Given the description of an element on the screen output the (x, y) to click on. 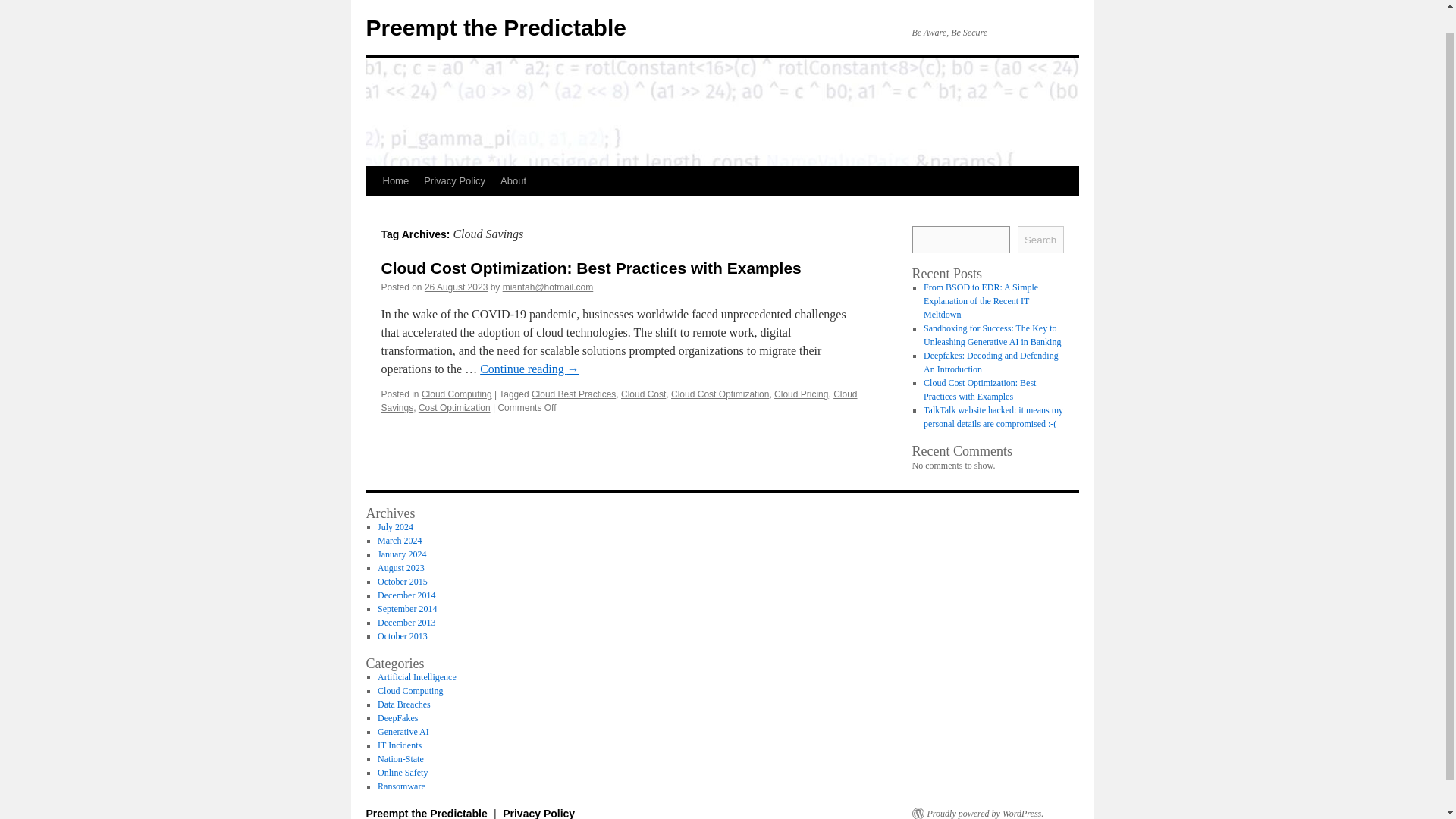
Cloud Best Practices (573, 394)
March 2024 (399, 540)
Home (395, 181)
IT Incidents (399, 745)
Cloud Computing (457, 394)
Cloud Computing (409, 690)
October 2015 (402, 581)
About (513, 181)
DeepFakes (397, 717)
Skip to content (372, 209)
Search (1040, 239)
09:46 (456, 286)
January 2024 (401, 553)
July 2024 (395, 526)
